Given the description of an element on the screen output the (x, y) to click on. 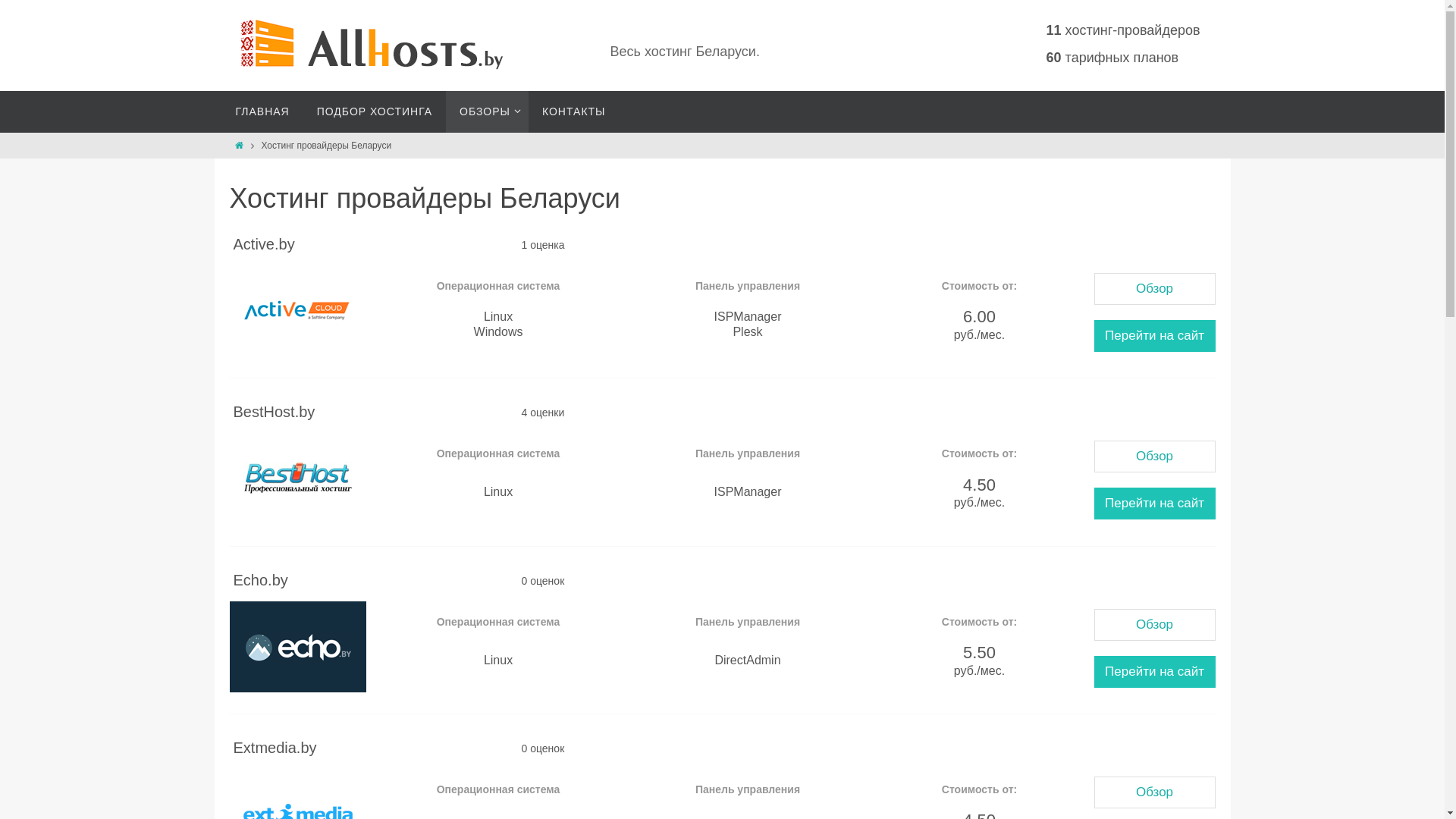
Extmedia.by Element type: text (274, 747)
BestHost.by Element type: text (274, 411)
Active.by Element type: text (263, 243)
Active.by Element type: hover (297, 310)
Echo.by Element type: text (260, 579)
Echo.by Element type: hover (297, 646)
AllHosts.by Element type: hover (370, 47)
BestHost.by Element type: hover (297, 478)
